Given the description of an element on the screen output the (x, y) to click on. 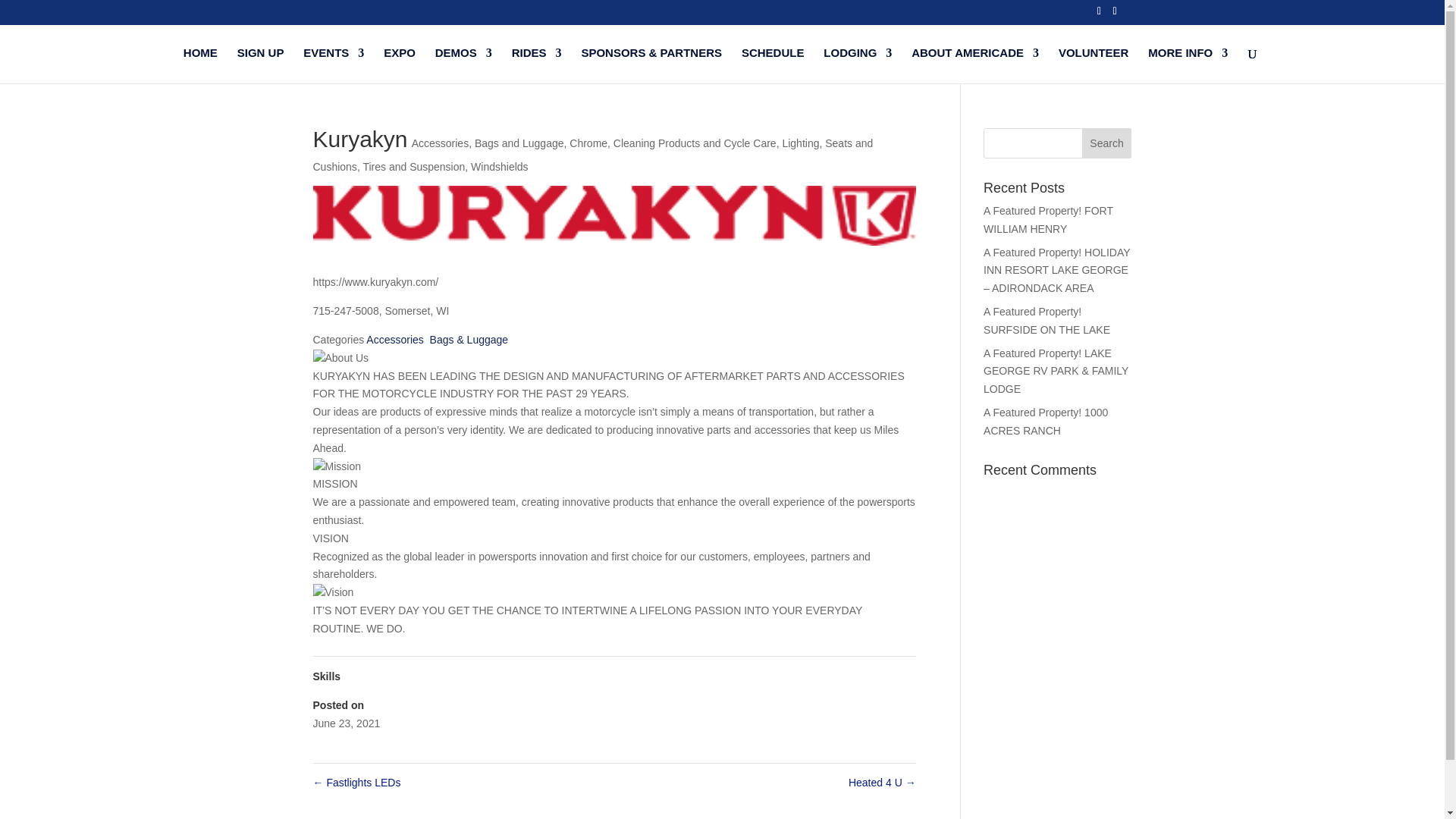
Search (1106, 142)
EVENTS (333, 65)
SIGN UP (260, 65)
EXPO (399, 65)
DEMOS (463, 65)
HOME (199, 65)
